Given the description of an element on the screen output the (x, y) to click on. 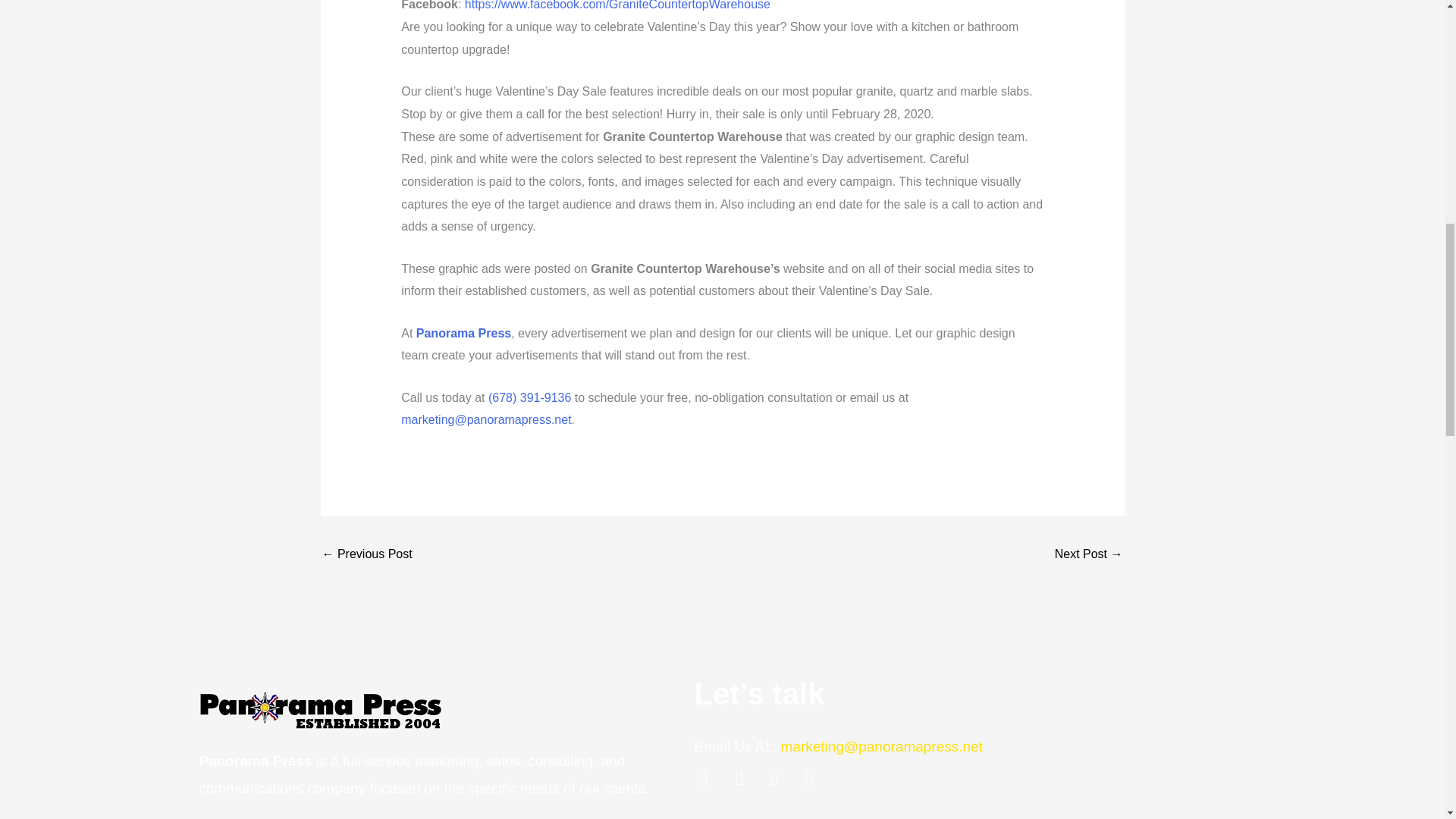
108 Broken Regicide Quadiliacha (366, 555)
